Given the description of an element on the screen output the (x, y) to click on. 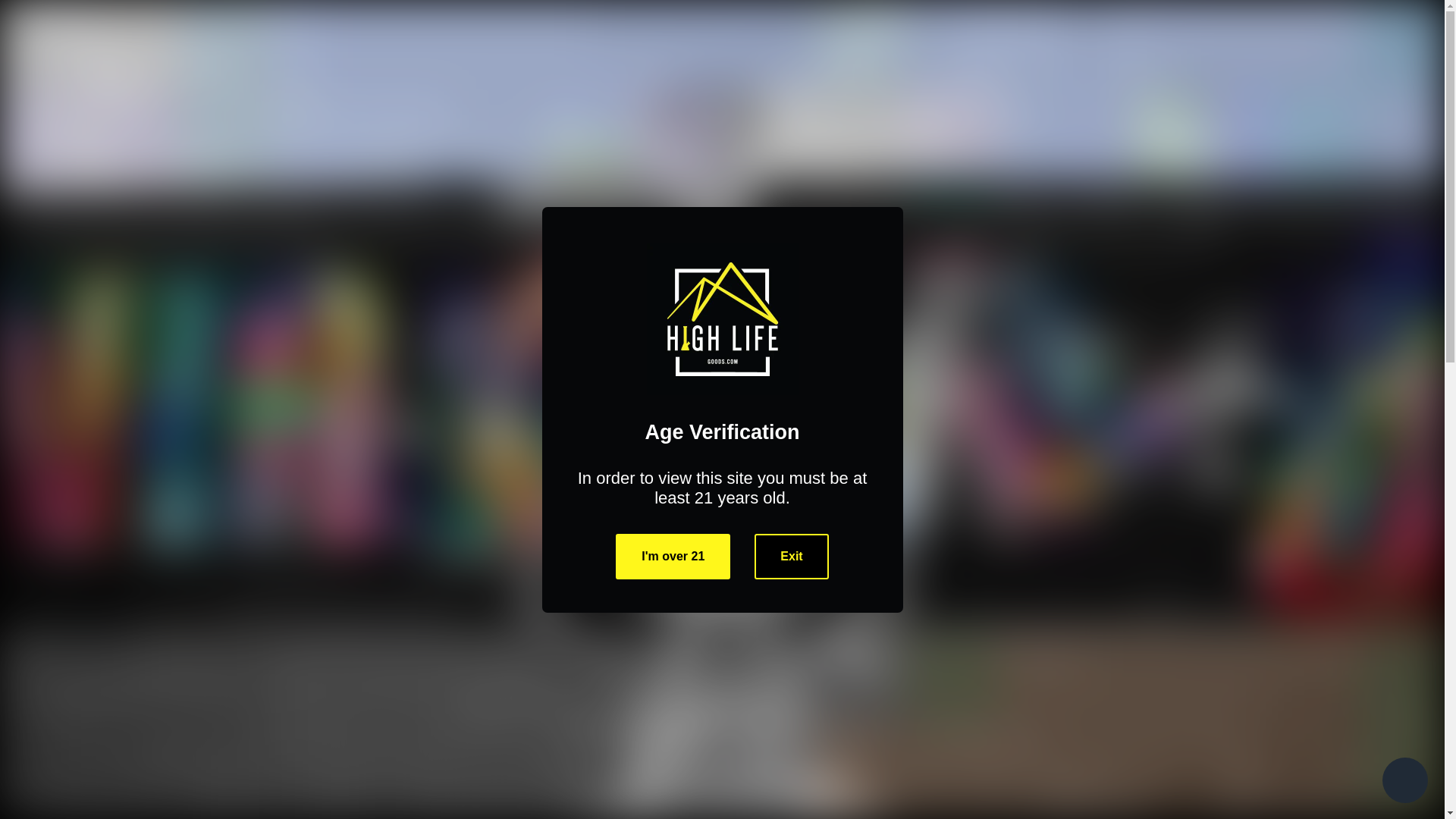
I'm over 21 (672, 556)
Decrease quantity by 1 (836, 504)
Increase quantity by 1 (917, 504)
White (786, 403)
Shopify online store chat (1404, 781)
1 (876, 504)
Exit (791, 556)
